Given the description of an element on the screen output the (x, y) to click on. 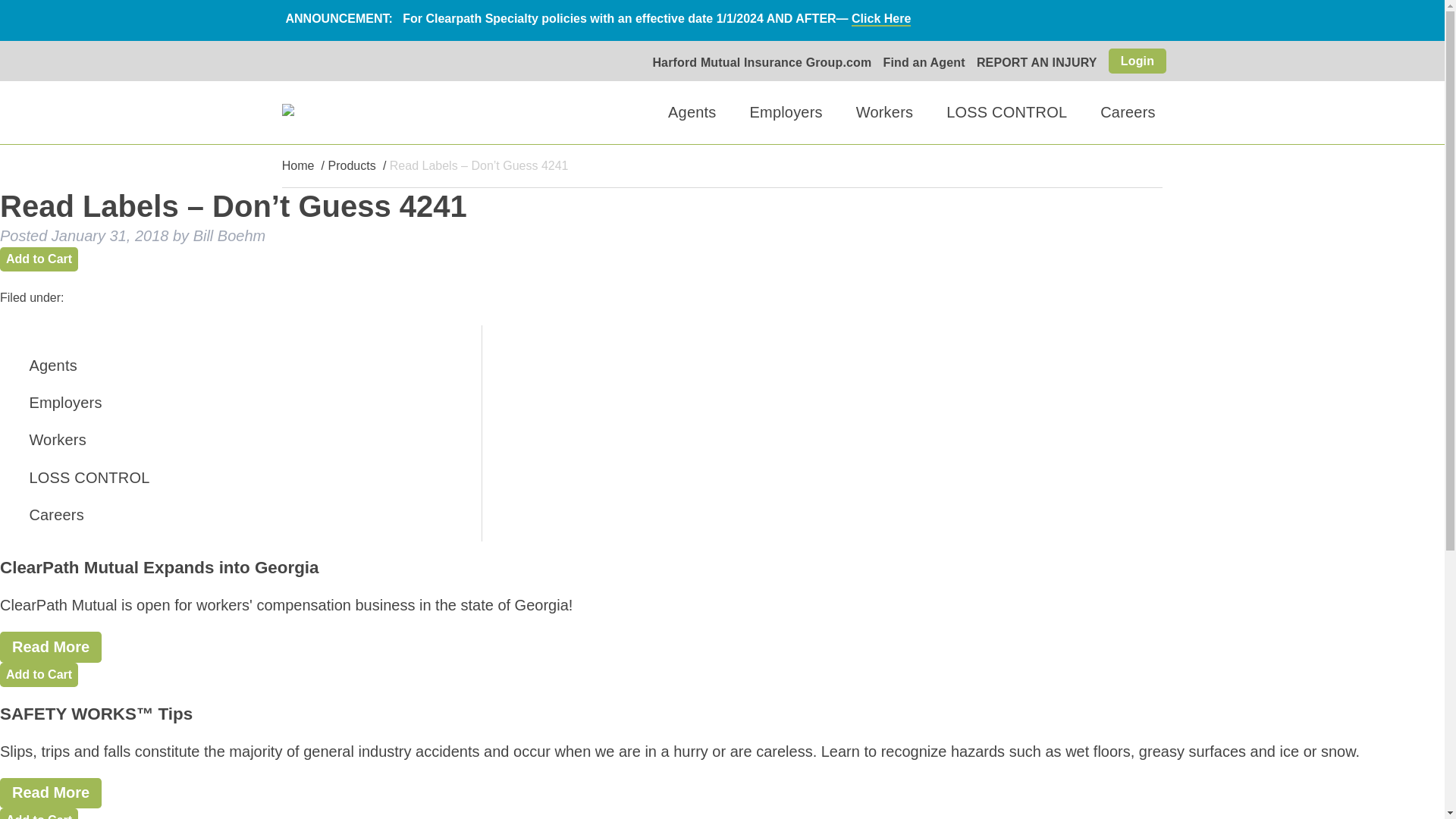
Workers (884, 111)
Agent Portal LOGIN (805, 285)
REPORT AN INJURY (1036, 62)
Read More (50, 793)
Add to Cart (39, 813)
Employers (785, 111)
Careers (1128, 111)
Harford Mutual Insurance Group.com (761, 62)
Products (352, 164)
LOSS CONTROL (219, 477)
Home (298, 164)
Agents (692, 111)
Submit an FNOL or FROI (823, 285)
Employers (219, 402)
Find an Agent (924, 62)
